Given the description of an element on the screen output the (x, y) to click on. 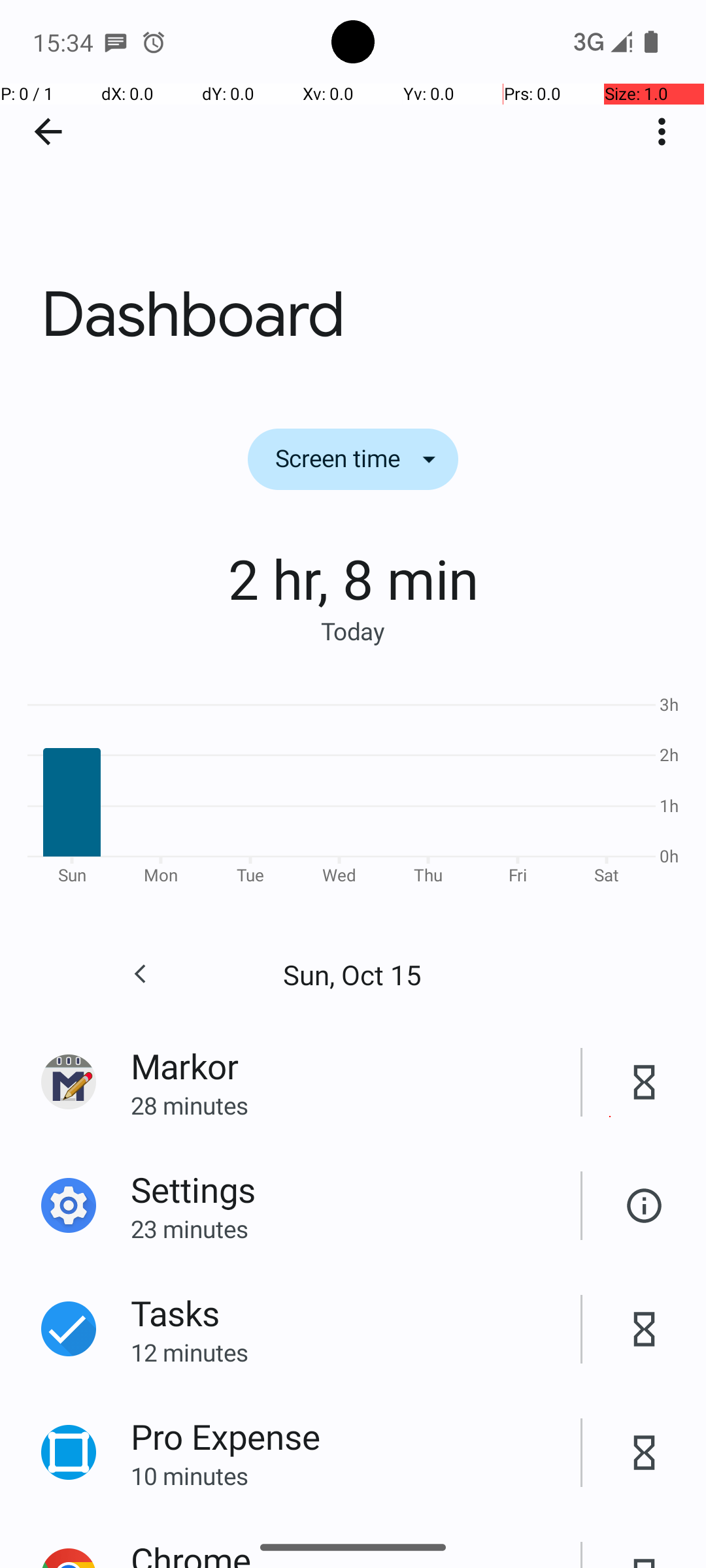
Dashboard Element type: android.widget.FrameLayout (353, 195)
2 hr, 8 min Element type: android.widget.TextView (353, 577)
28 minutes Element type: android.widget.TextView (355, 1105)
No timer set for Markor Element type: android.widget.FrameLayout (644, 1082)
23 minutes Element type: android.widget.TextView (355, 1228)
Can't set timer Element type: android.widget.FrameLayout (644, 1205)
12 minutes Element type: android.widget.TextView (355, 1352)
No timer set for Tasks Element type: android.widget.FrameLayout (644, 1329)
10 minutes Element type: android.widget.TextView (355, 1475)
No timer set for Pro Expense Element type: android.widget.FrameLayout (644, 1452)
No timer set for Chrome Element type: android.widget.FrameLayout (644, 1548)
Bar Chart. Showing Phone usage data with 7 data points. Element type: android.view.ViewGroup (353, 787)
